Given the description of an element on the screen output the (x, y) to click on. 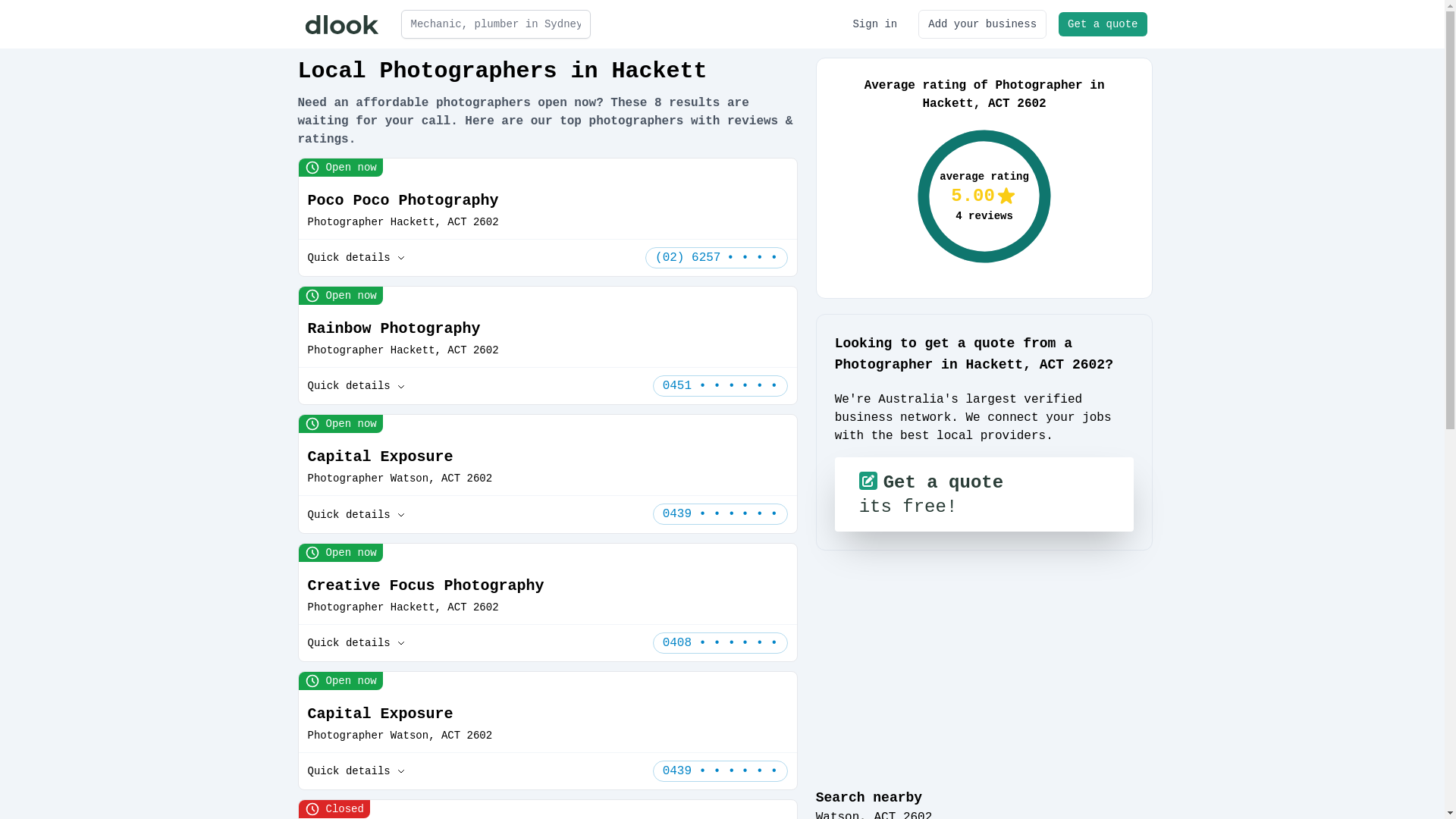
Get a quote its free! Element type: text (984, 494)
Add your business Element type: text (982, 23)
Sign in Element type: text (874, 23)
Get a quote Element type: text (1102, 24)
Advertisement Element type: hover (984, 668)
